Given the description of an element on the screen output the (x, y) to click on. 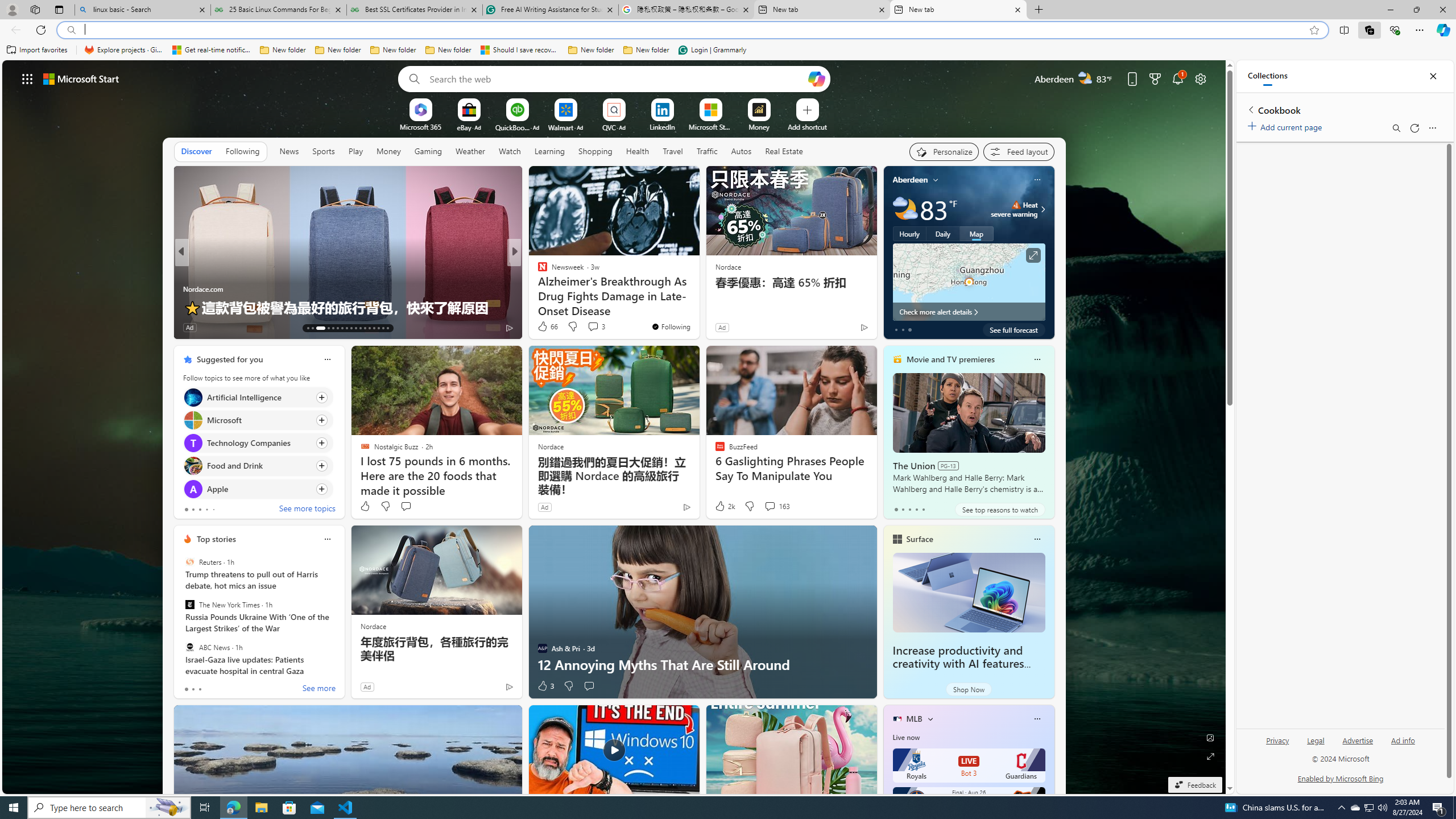
Network Products (697, 307)
View comments 2 Comment (589, 327)
View comments 3 Comment (596, 326)
Search icon (70, 29)
TechRadar (537, 288)
Shape (537, 288)
AutomationID: tab-25 (368, 328)
Ad Choice (508, 686)
Favorites bar (728, 49)
More interests (930, 718)
Shopping (595, 151)
View comments 137 Comment (238, 327)
Play (354, 151)
Like (364, 505)
